Given the description of an element on the screen output the (x, y) to click on. 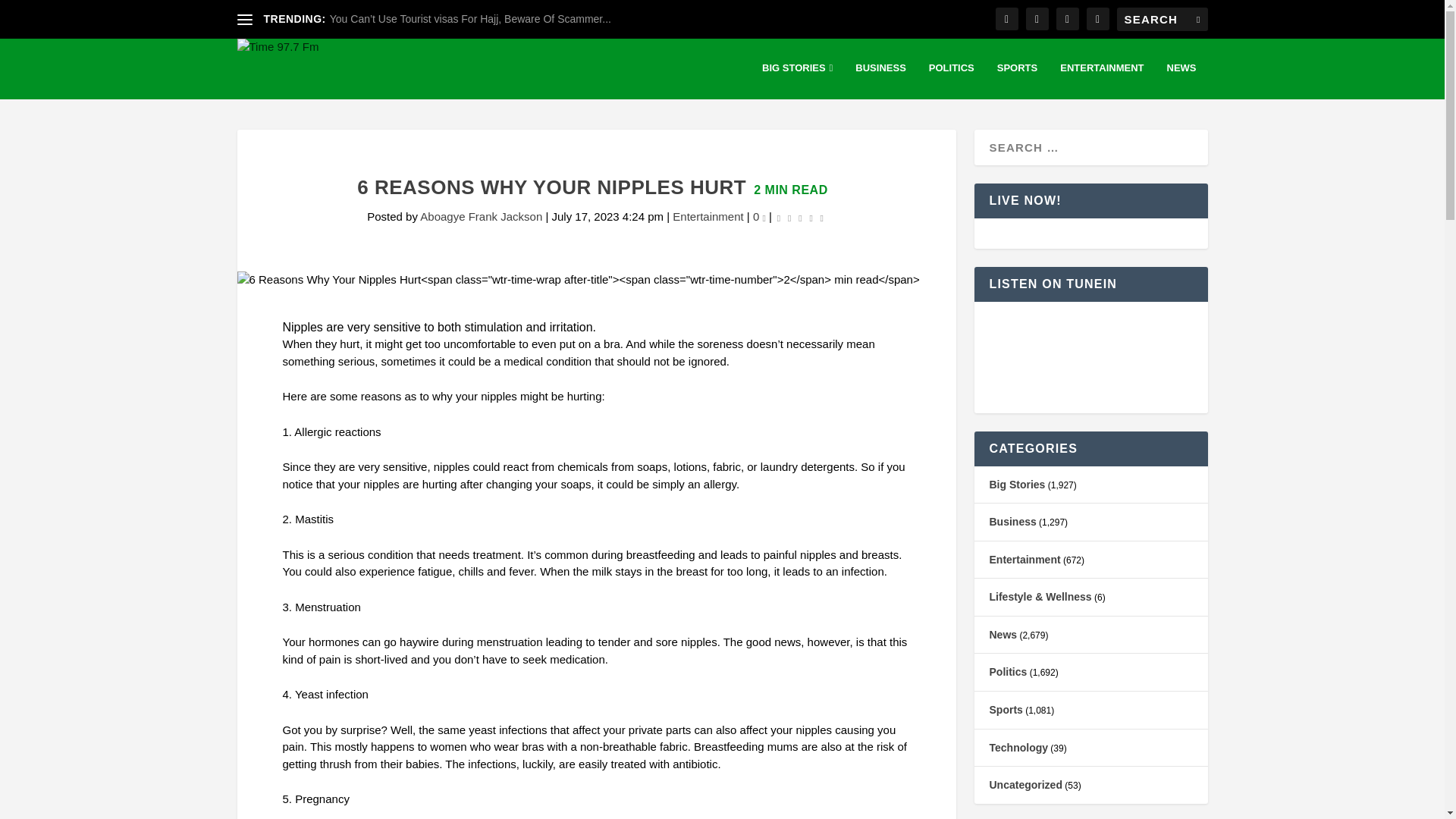
Aboagye Frank Jackson (480, 215)
BIG STORIES (796, 80)
BUSINESS (880, 80)
Search for: (1161, 19)
SPORTS (1016, 80)
ENTERTAINMENT (1100, 80)
Entertainment (707, 215)
POLITICS (951, 80)
0 (758, 215)
